Given the description of an element on the screen output the (x, y) to click on. 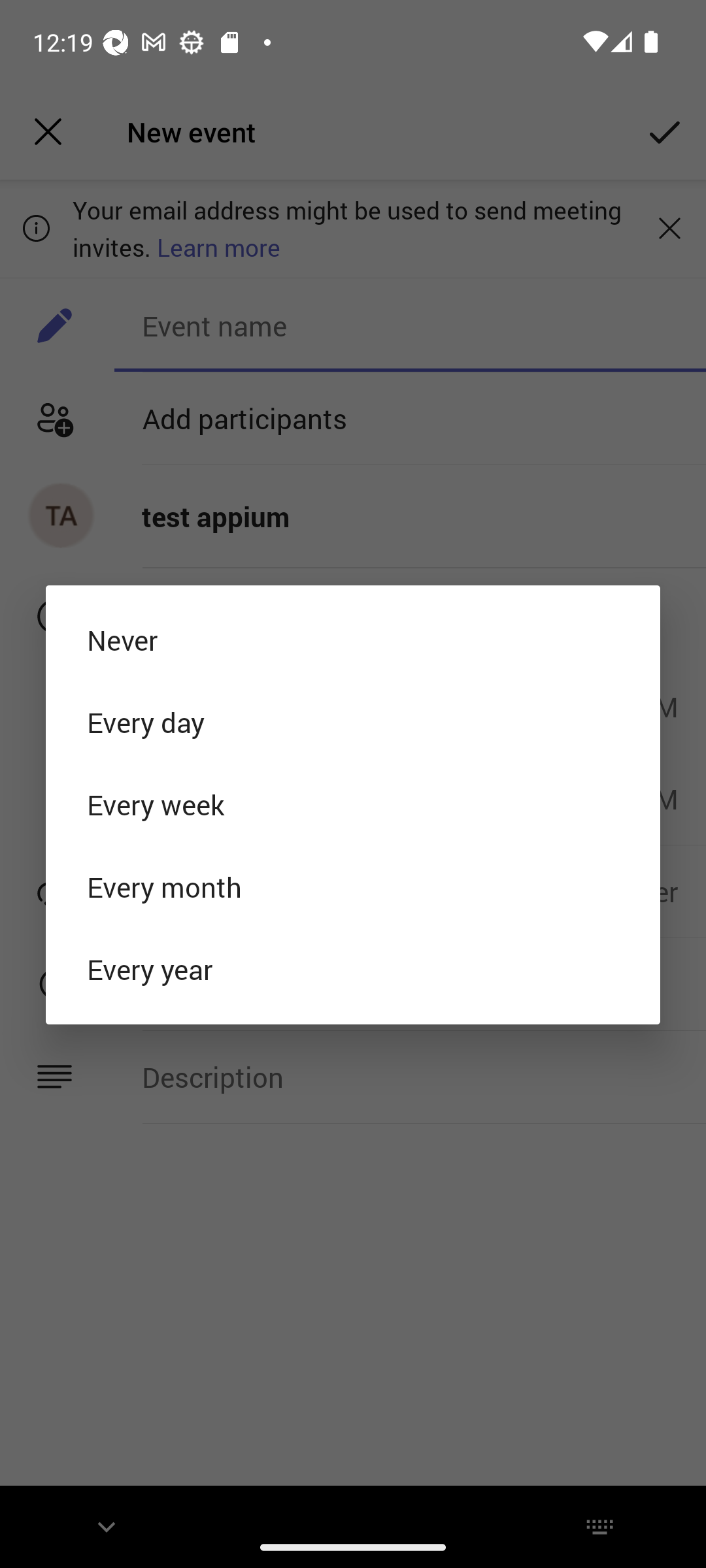
Never (352, 640)
Every day (352, 722)
Every week (352, 804)
Every month (352, 887)
Every year (352, 969)
